Given the description of an element on the screen output the (x, y) to click on. 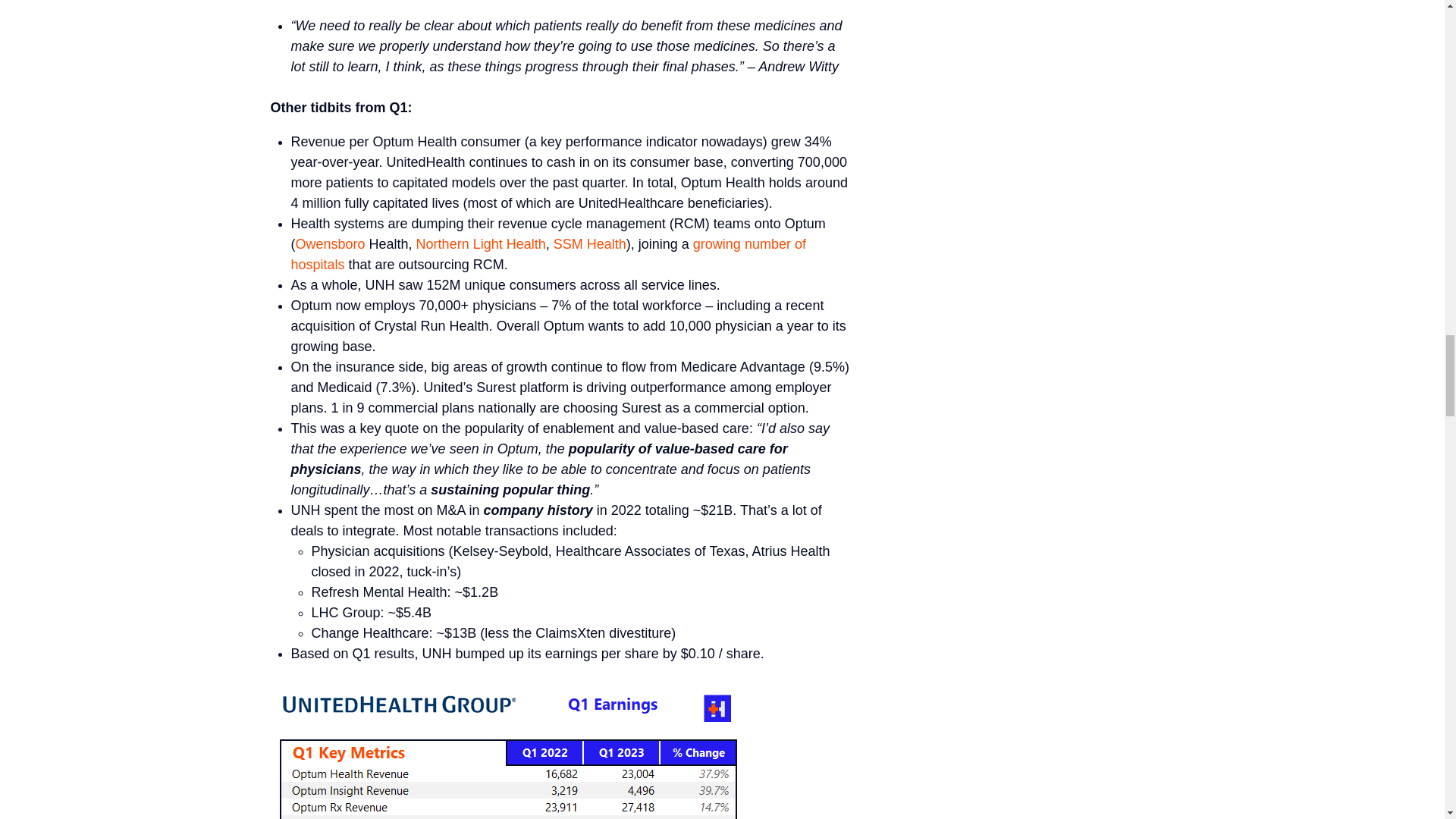
SSM Health (589, 243)
Northern Light Health (481, 243)
Owensboro (330, 243)
growing number of hospitals (548, 253)
